Given the description of an element on the screen output the (x, y) to click on. 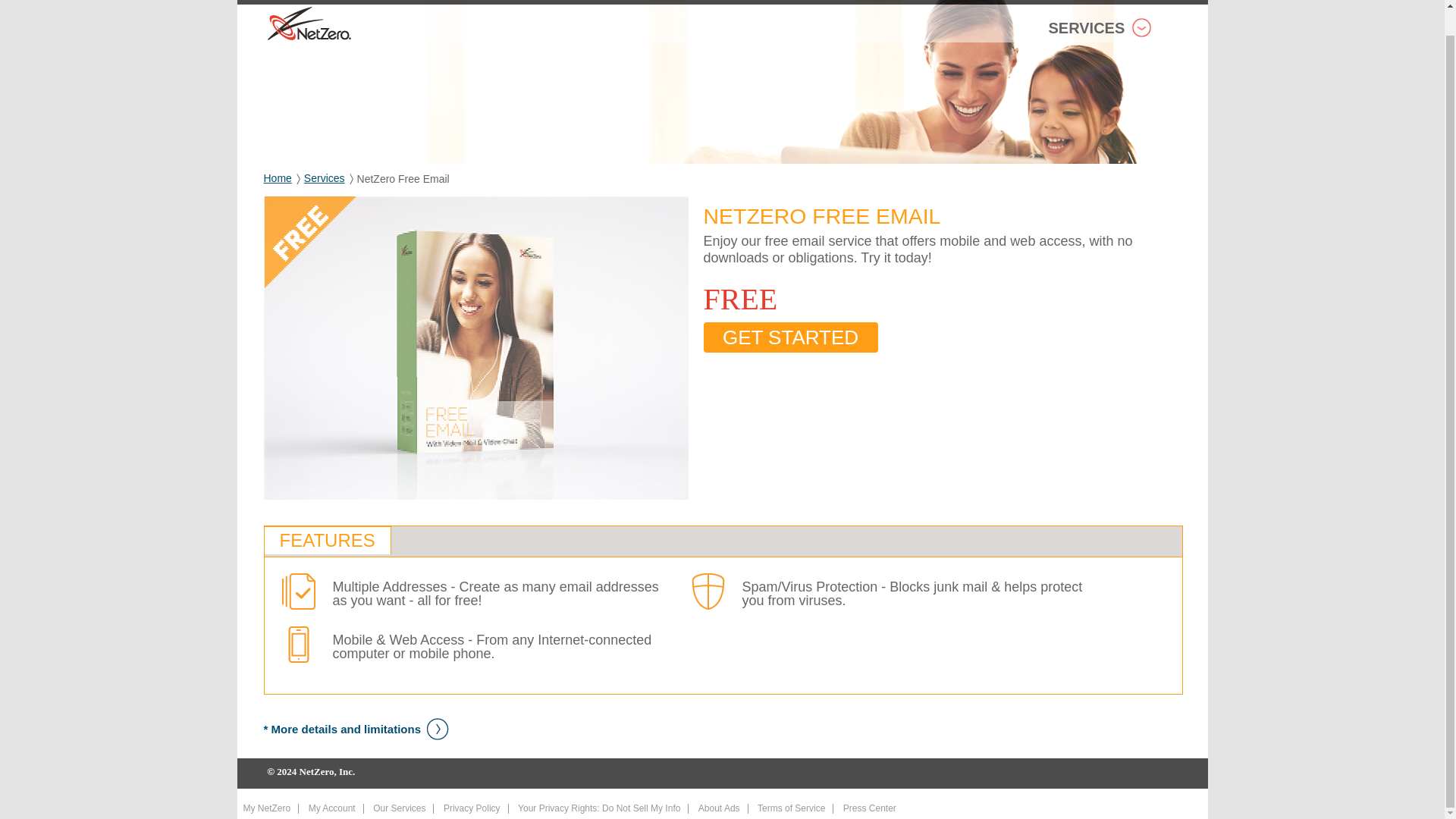
My Account (331, 808)
Home (277, 177)
Our Services (398, 808)
Your Privacy Rights: Do Not Sell My Info (598, 808)
Privacy Policy (472, 808)
Press Center (869, 808)
SERVICES (1099, 31)
GET STARTED (790, 337)
About Ads (718, 808)
Terms of Service (791, 808)
